Given the description of an element on the screen output the (x, y) to click on. 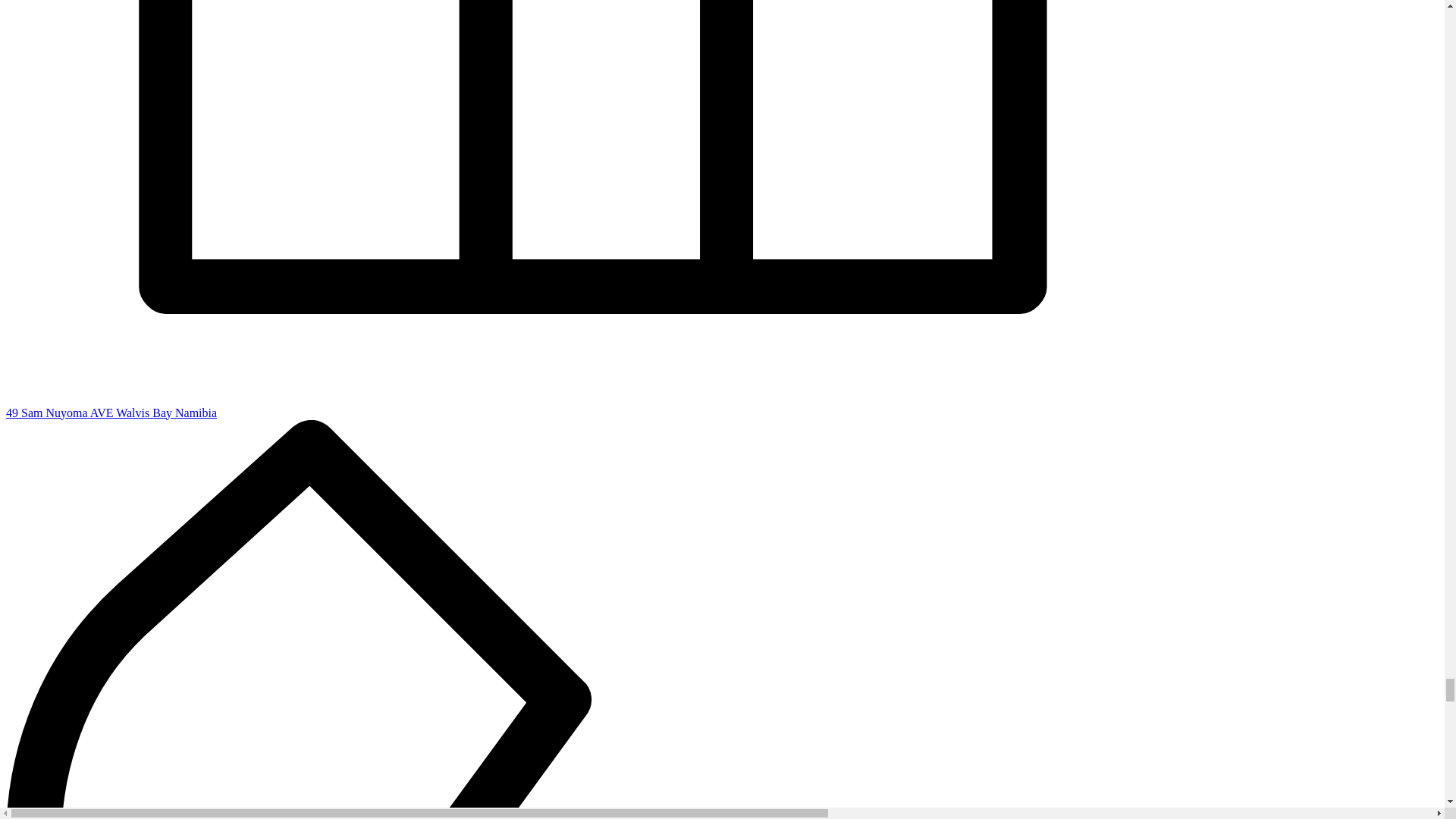
49 Sam Nuyoma AVE Walvis Bay Namibia (721, 406)
